Given the description of an element on the screen output the (x, y) to click on. 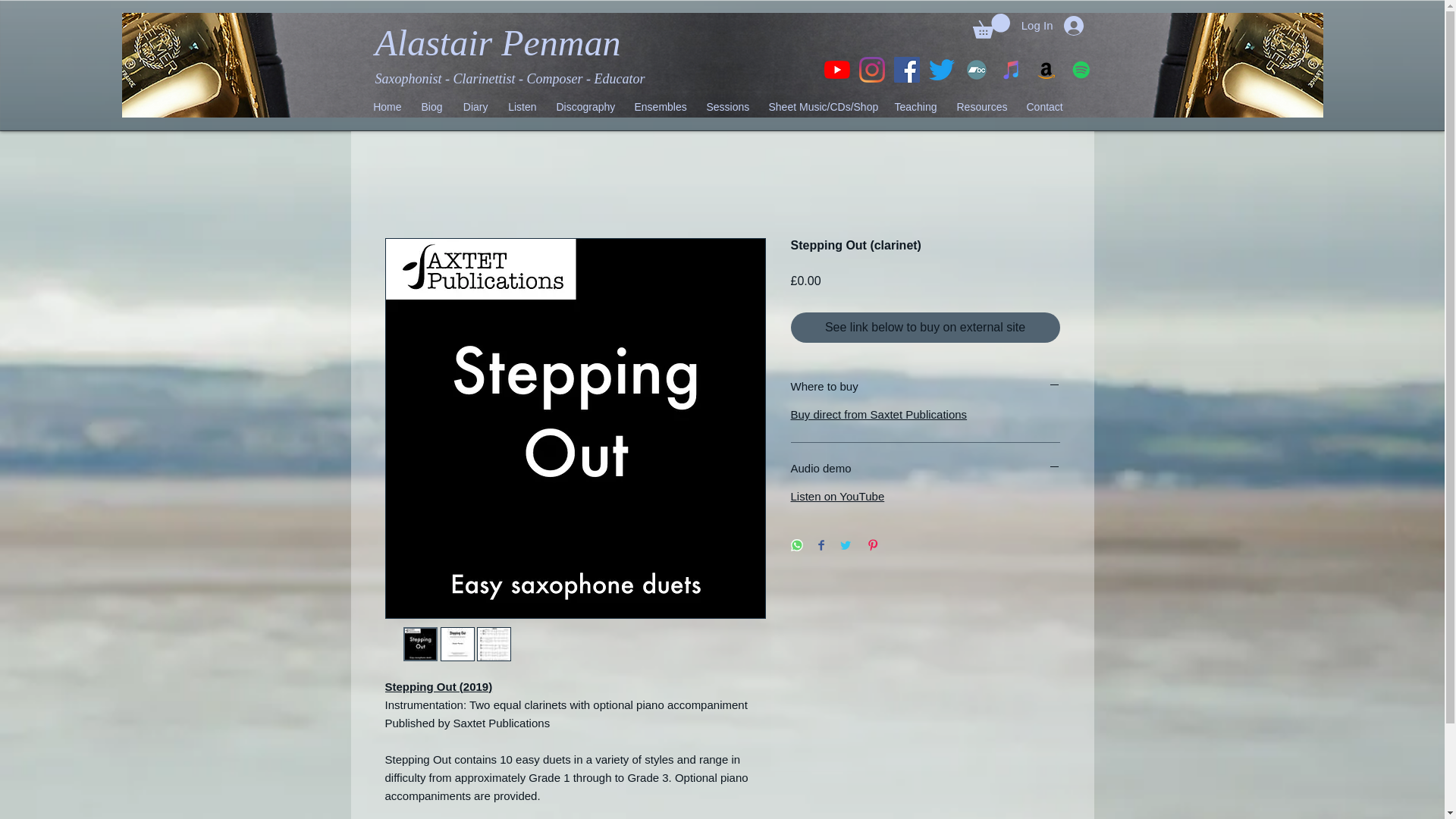
Teaching (914, 106)
Home (386, 106)
Sessions (726, 106)
Contact (1043, 106)
Listen (521, 106)
Biog (430, 106)
Resources (981, 106)
Diary (474, 106)
Ensembles (660, 106)
Discography (585, 106)
Log In (1061, 25)
